Given the description of an element on the screen output the (x, y) to click on. 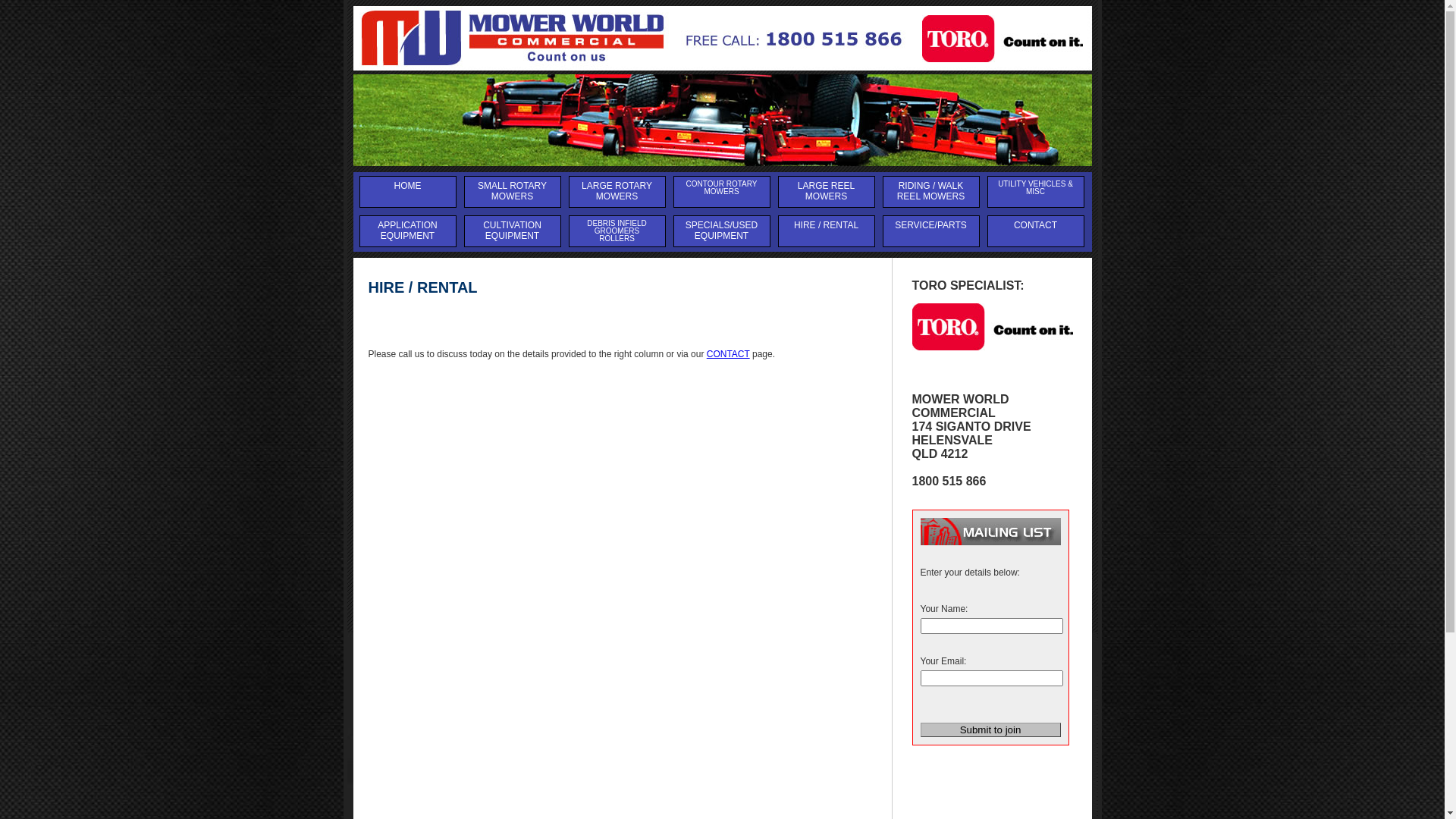
CONTACT Element type: text (727, 353)
DEBRIS INFIELD GROOMERS ROLLERS Element type: text (616, 231)
HIRE / RENTAL Element type: text (825, 231)
HOME Element type: text (407, 191)
UTILITY VEHICLES & MISC Element type: text (1034, 191)
LARGE REEL MOWERS Element type: text (825, 191)
CONTOUR ROTARY MOWERS Element type: text (720, 191)
LARGE ROTARY MOWERS Element type: text (616, 191)
SPECIALS/USED EQUIPMENT Element type: text (720, 231)
SERVICE/PARTS Element type: text (930, 231)
CONTACT Element type: text (1034, 231)
RIDING / WALK REEL MOWERS Element type: text (930, 191)
SMALL ROTARY MOWERS Element type: text (511, 191)
Submit to join Element type: text (990, 729)
CULTIVATION EQUIPMENT Element type: text (511, 231)
APPLICATION EQUIPMENT Element type: text (407, 231)
